Given the description of an element on the screen output the (x, y) to click on. 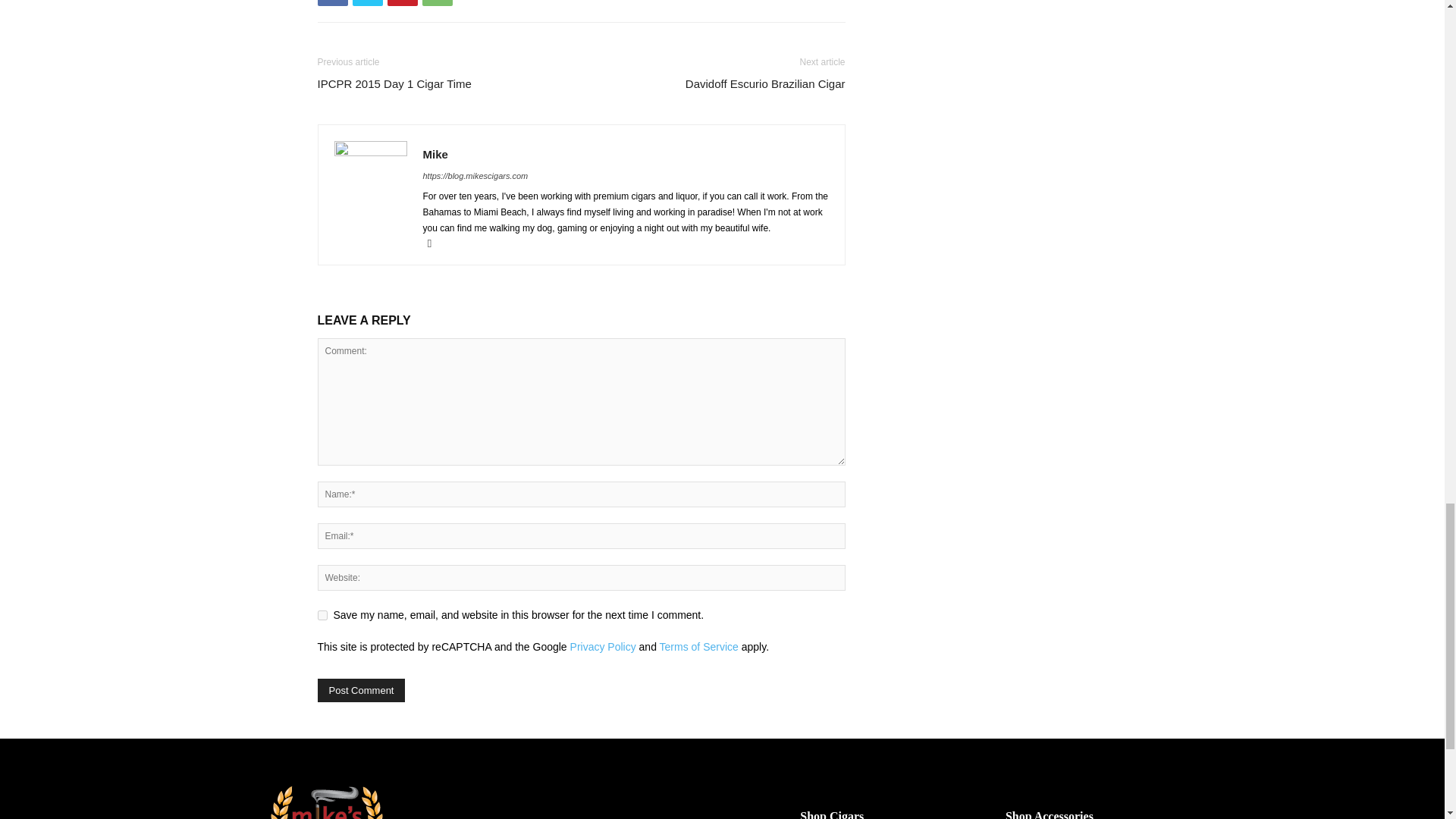
Post Comment (360, 689)
yes (321, 614)
